Given the description of an element on the screen output the (x, y) to click on. 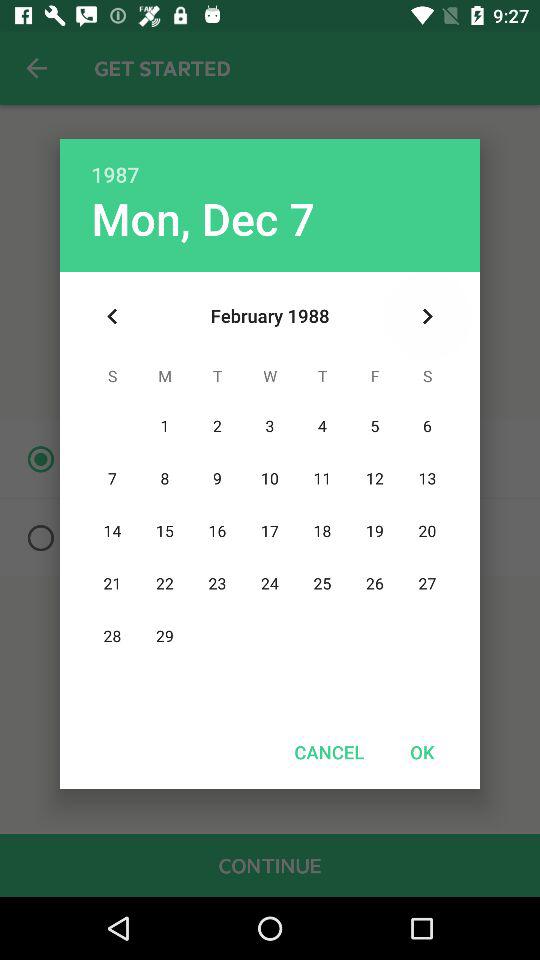
tap the item below the 1987 icon (427, 316)
